Given the description of an element on the screen output the (x, y) to click on. 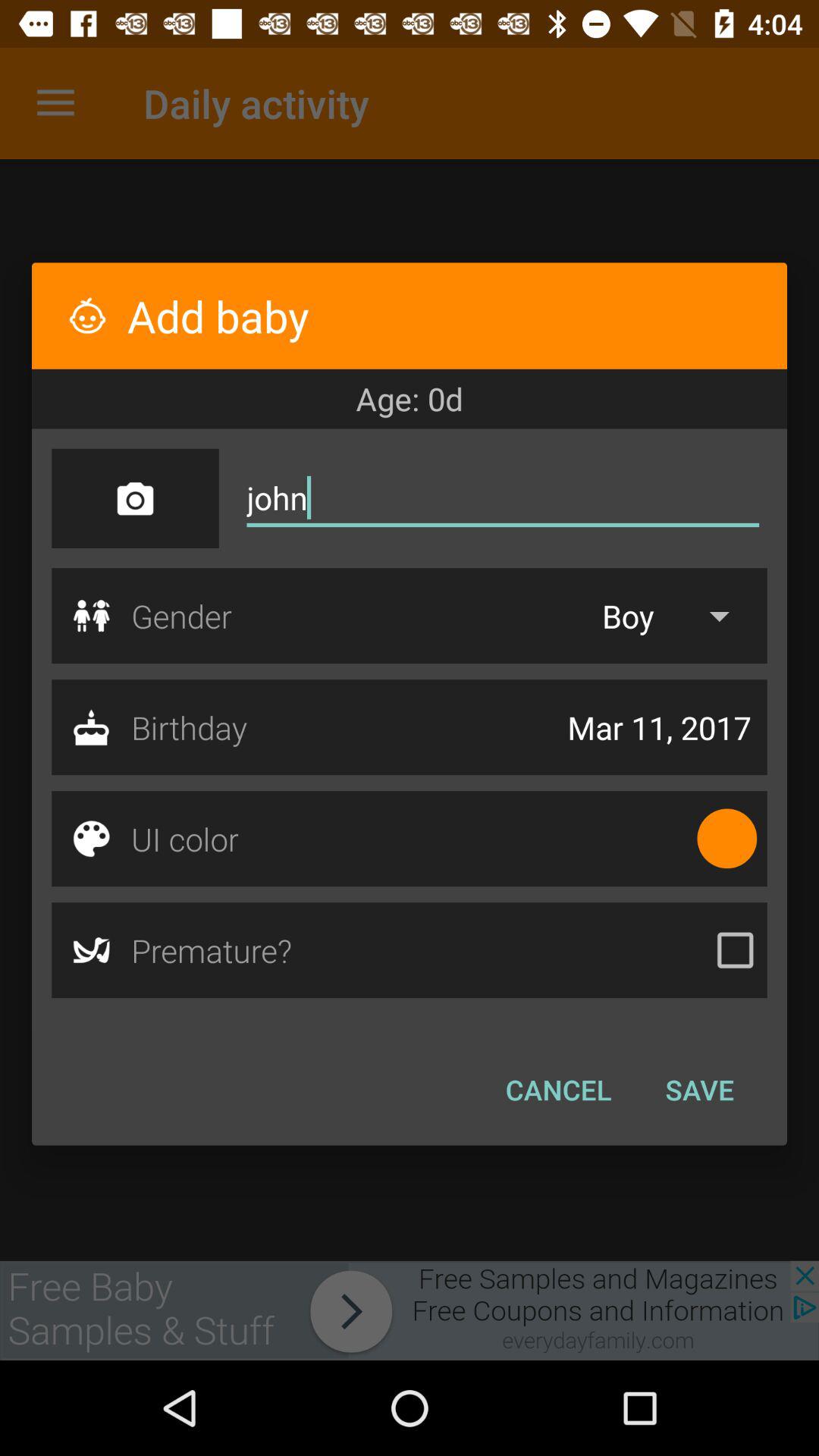
add photo (134, 498)
